Given the description of an element on the screen output the (x, y) to click on. 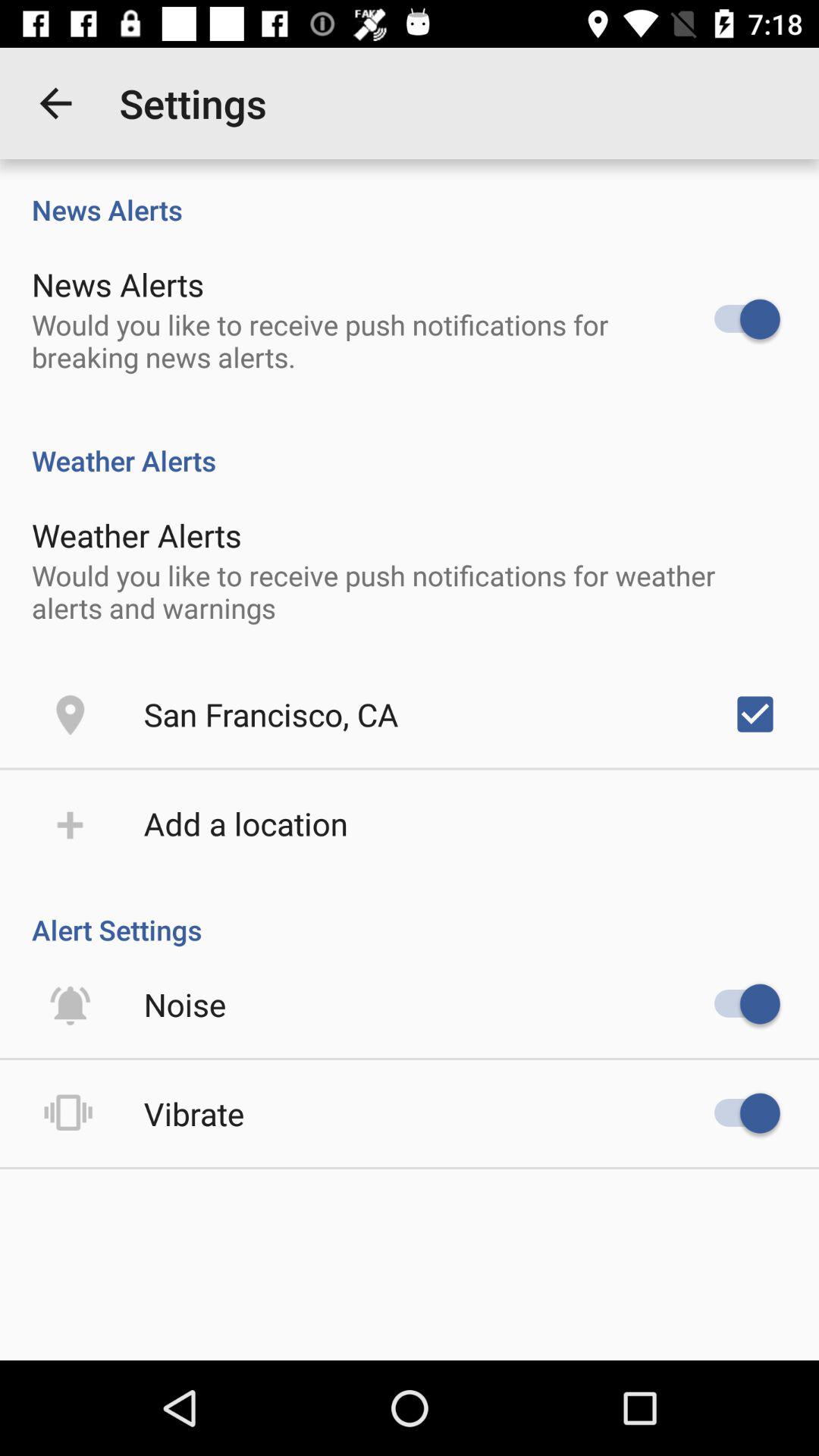
launch the item below the noise item (193, 1113)
